Given the description of an element on the screen output the (x, y) to click on. 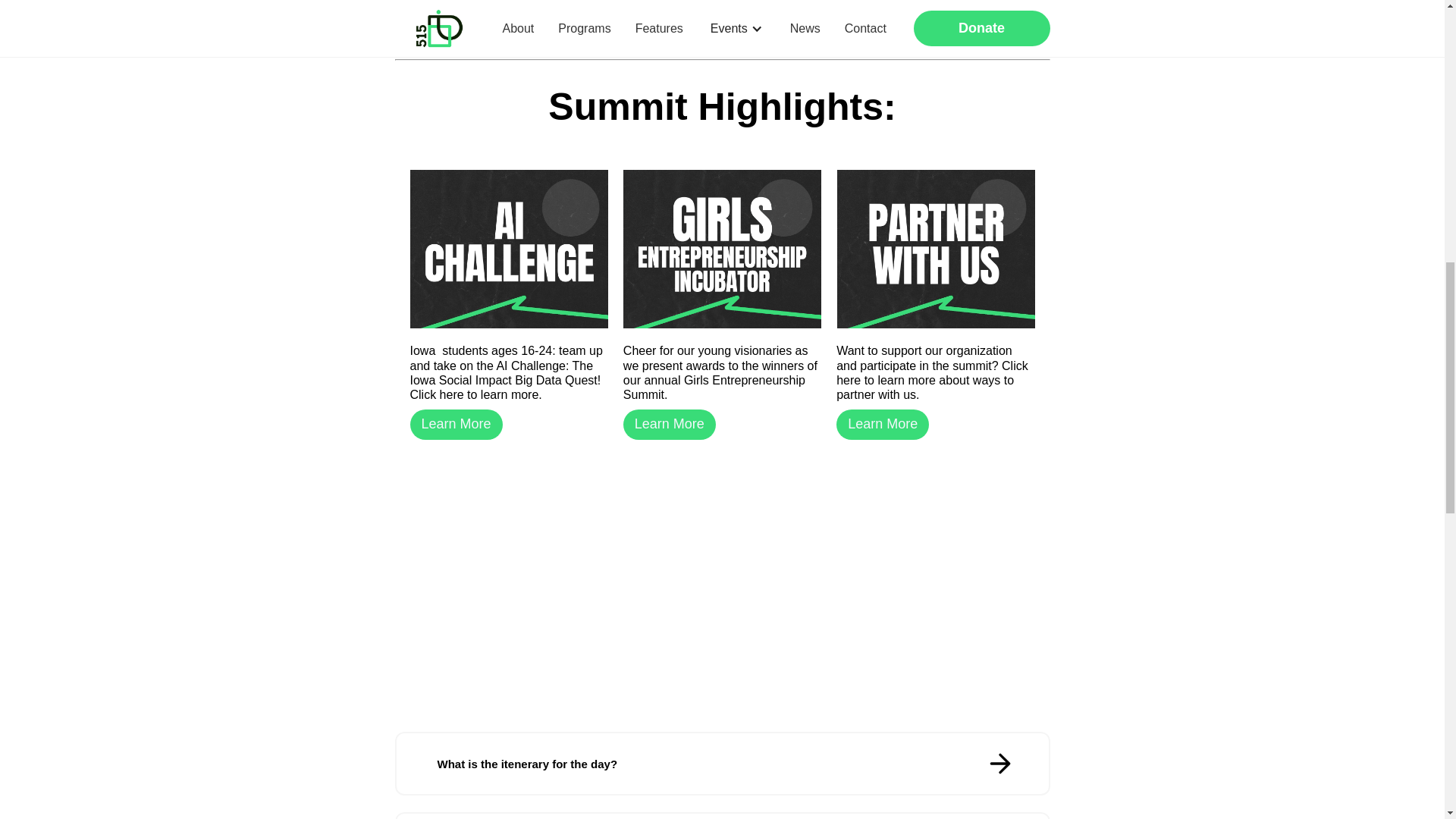
Learn More (455, 424)
Learn More (669, 424)
Learn More (881, 424)
